Given the description of an element on the screen output the (x, y) to click on. 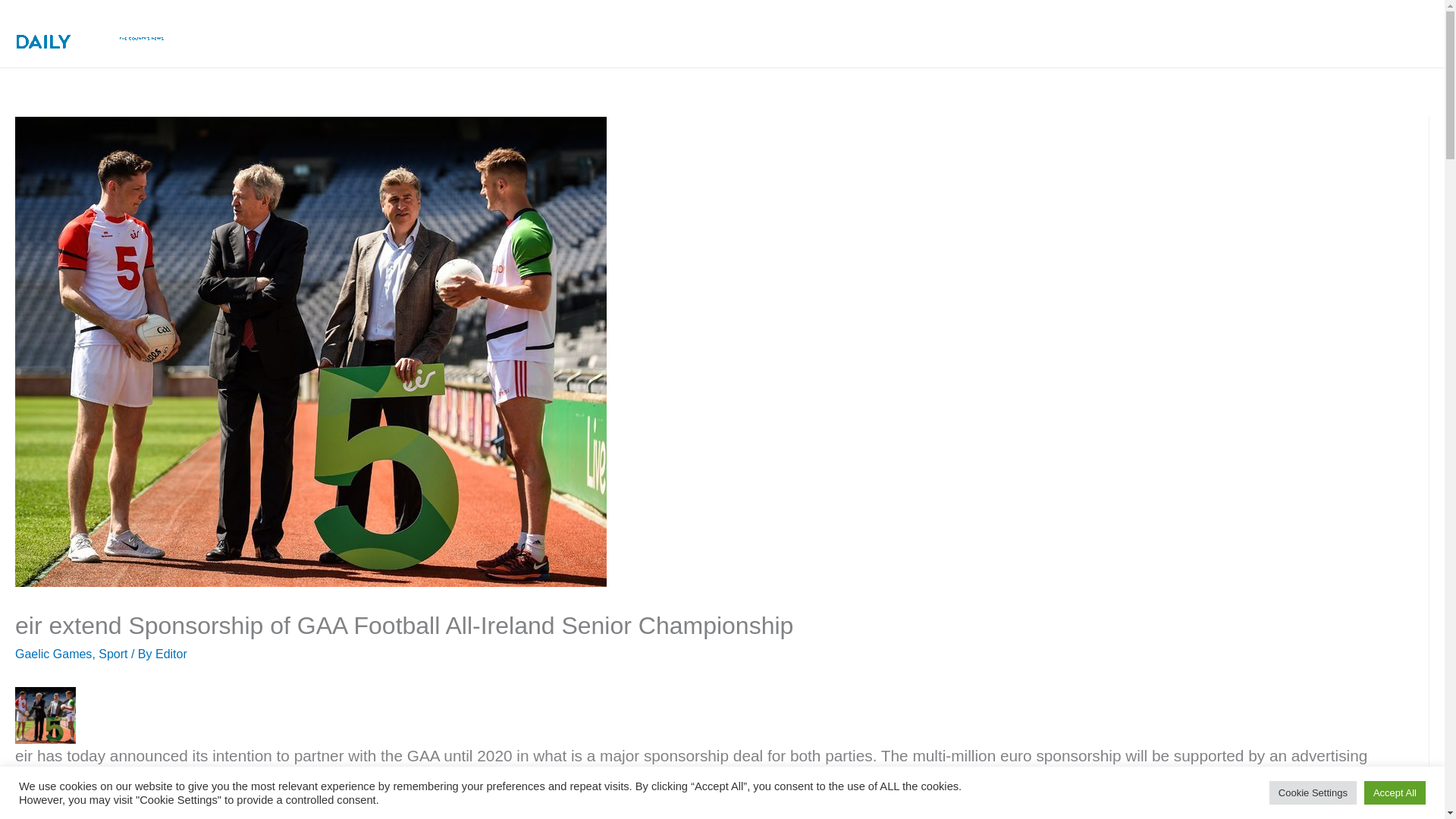
DEATH NOTICES (800, 33)
JOBS (1276, 33)
View all posts by Editor (171, 653)
Sport (113, 653)
NEWS (703, 33)
SPORT (894, 33)
Editor (171, 653)
HOME (634, 33)
BUSINESS DIRECTORY (1161, 33)
CONTACT US (1371, 33)
Gaelic Games (52, 653)
HOUSES FOR SALE (1004, 33)
